Given the description of an element on the screen output the (x, y) to click on. 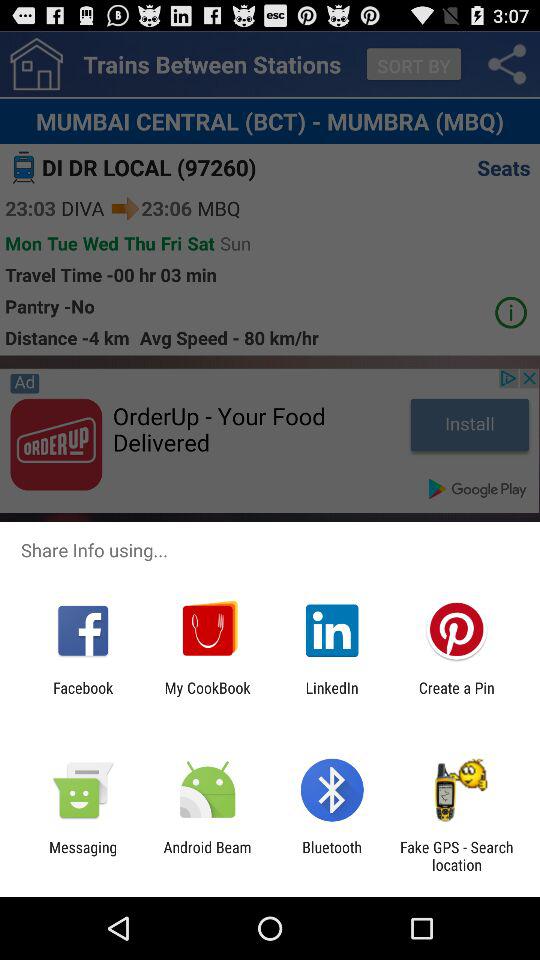
press icon to the left of android beam item (83, 856)
